Given the description of an element on the screen output the (x, y) to click on. 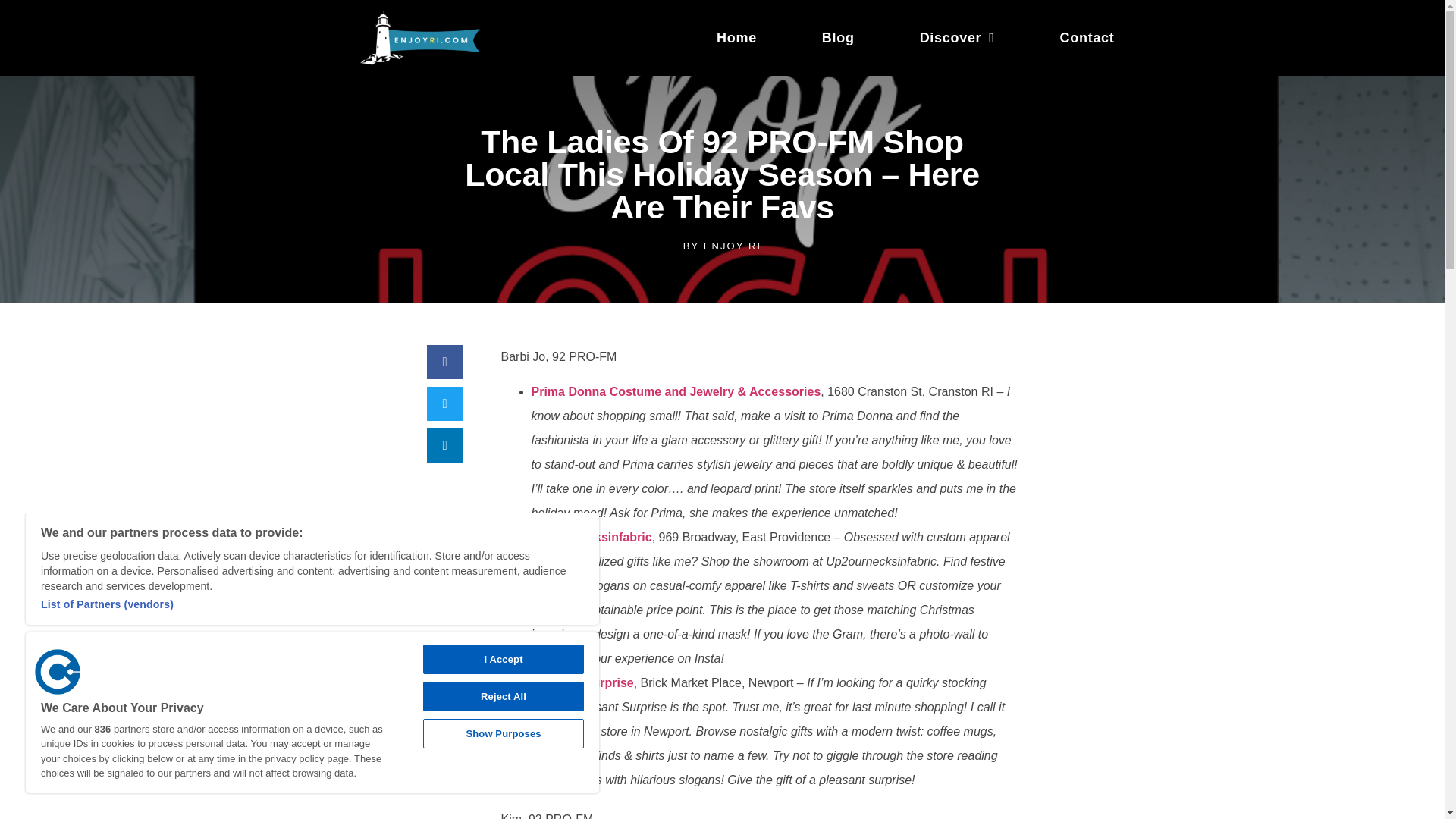
Discover (956, 37)
Cumulus Media (57, 671)
Contact (1087, 37)
Blog (837, 37)
BY ENJOY RI (721, 246)
Home (736, 37)
